Given the description of an element on the screen output the (x, y) to click on. 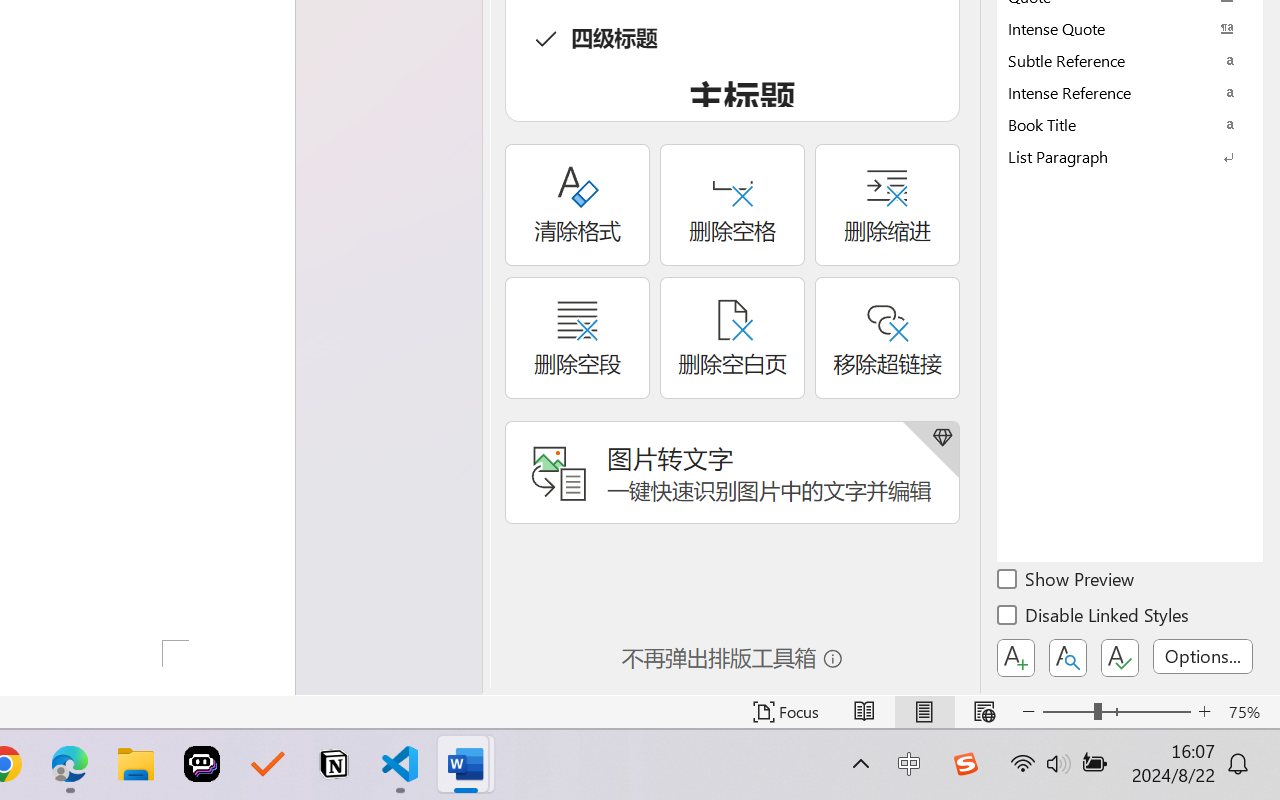
Intense Reference (1130, 92)
Class: NetUIImage (1116, 156)
Zoom Out (1067, 712)
List Paragraph (1130, 156)
Intense Quote (1130, 28)
Options... (1203, 656)
